Given the description of an element on the screen output the (x, y) to click on. 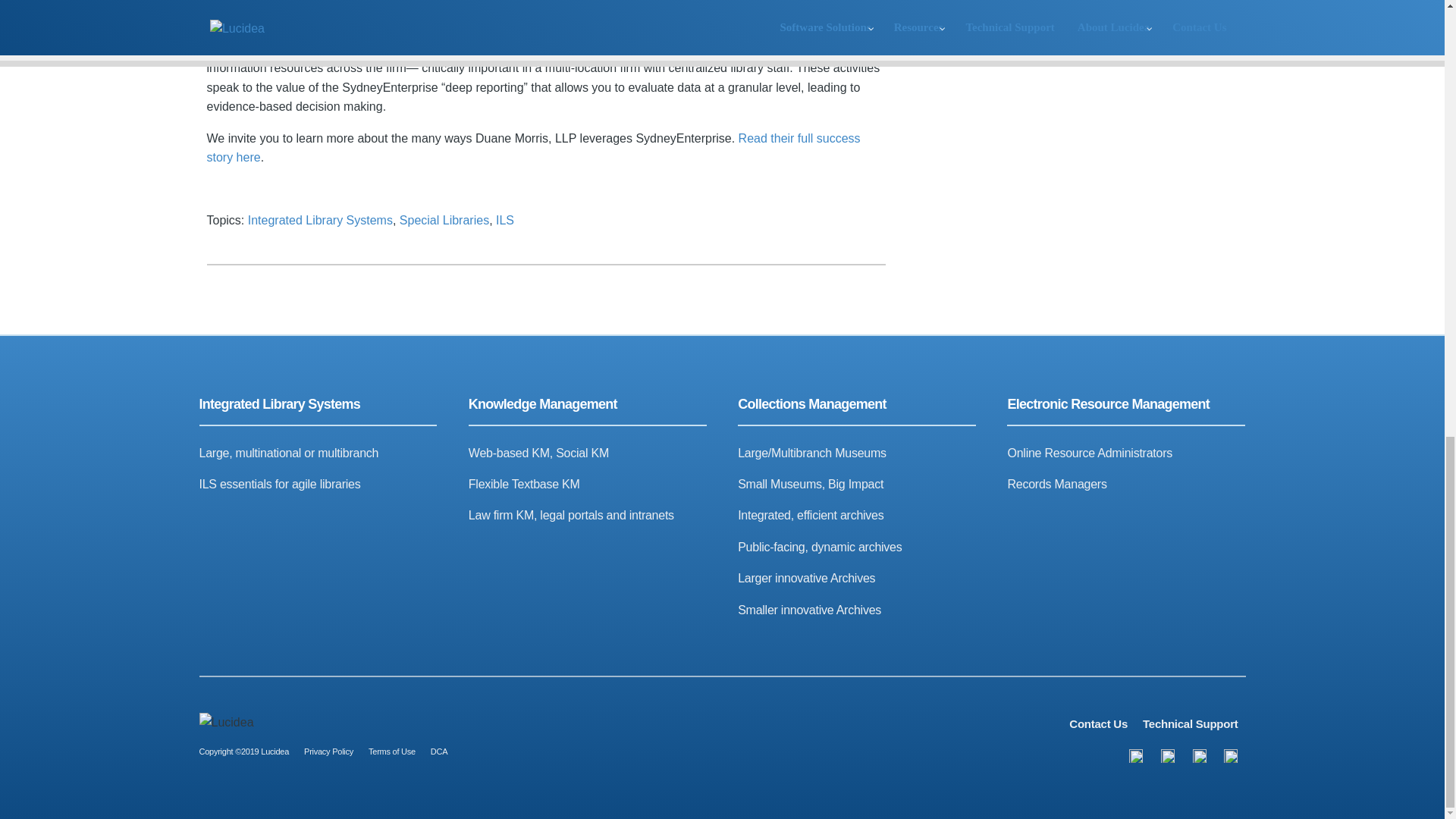
Read their full success story here (533, 147)
Special Libraries (443, 219)
ILS (504, 219)
Integrated Library Systems (320, 219)
